Given the description of an element on the screen output the (x, y) to click on. 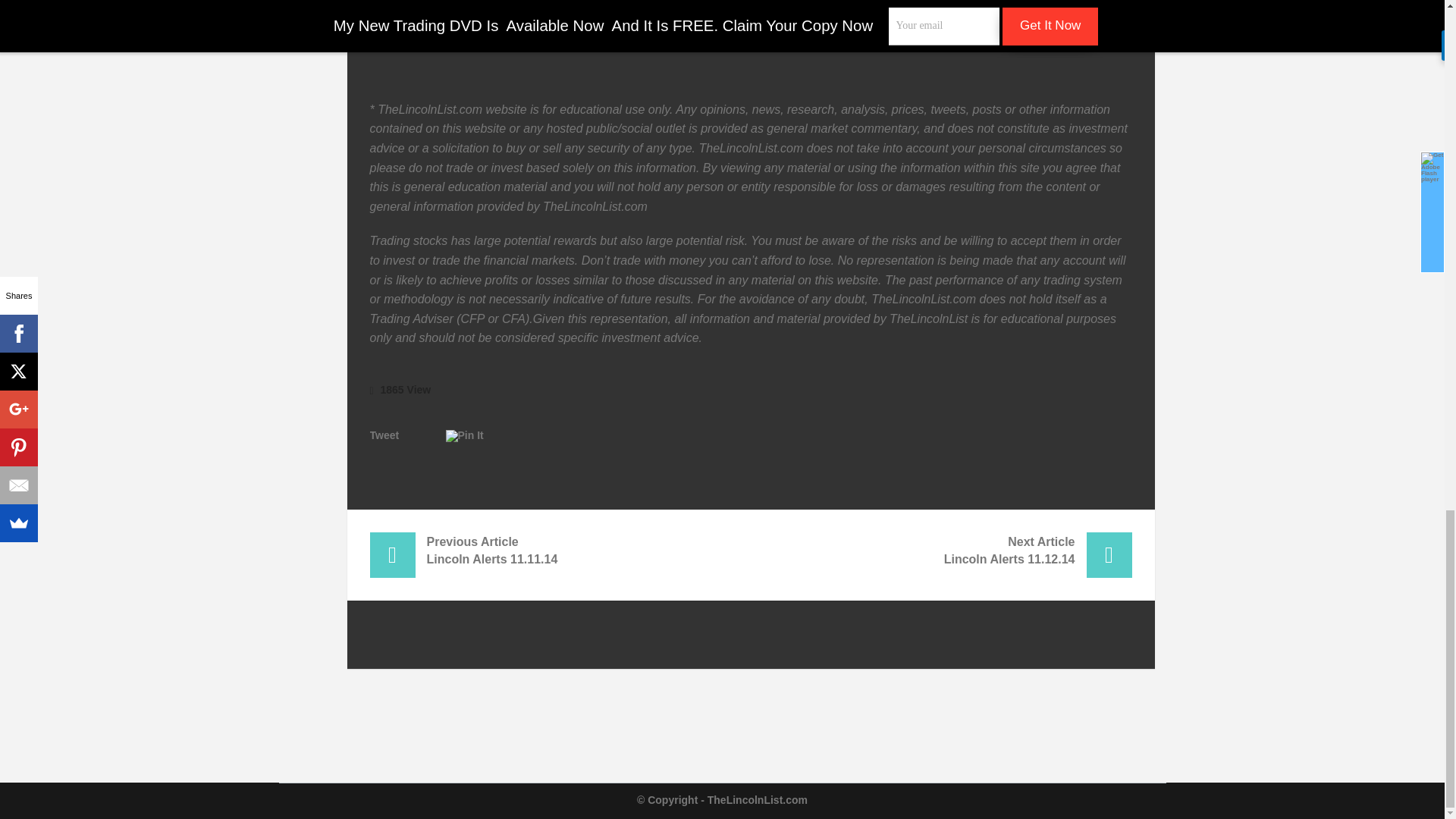
3 Of The Worst Traders Ever (450, 6)
